Given the description of an element on the screen output the (x, y) to click on. 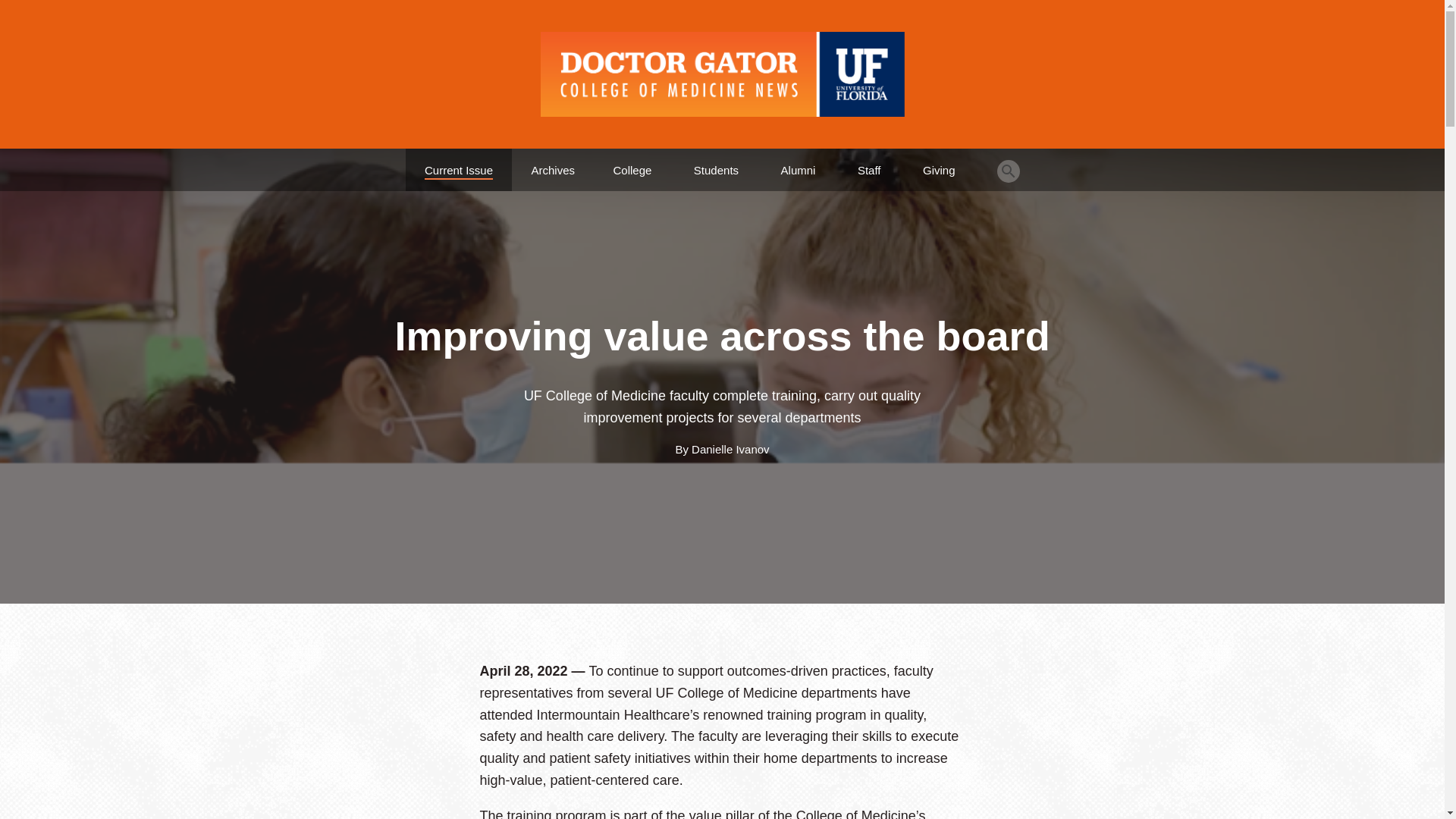
Current Issue (459, 163)
Students (716, 163)
Giving (939, 163)
Archives (553, 163)
College (631, 163)
Doctor Gator - Home (722, 74)
Alumni (797, 163)
